Given the description of an element on the screen output the (x, y) to click on. 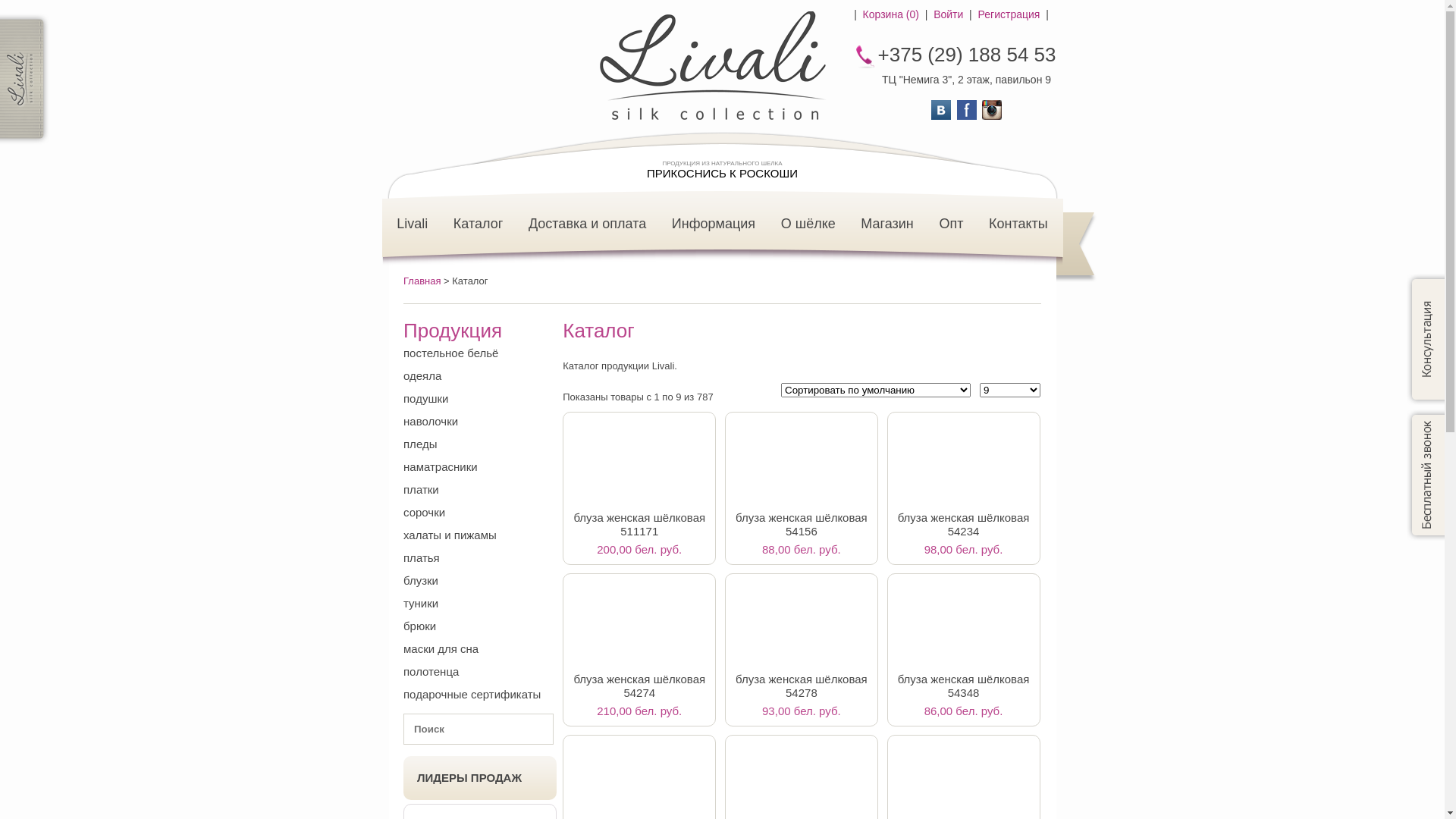
Livali Element type: text (411, 223)
Facebook Element type: hover (966, 109)
Instagram Element type: hover (991, 109)
